Given the description of an element on the screen output the (x, y) to click on. 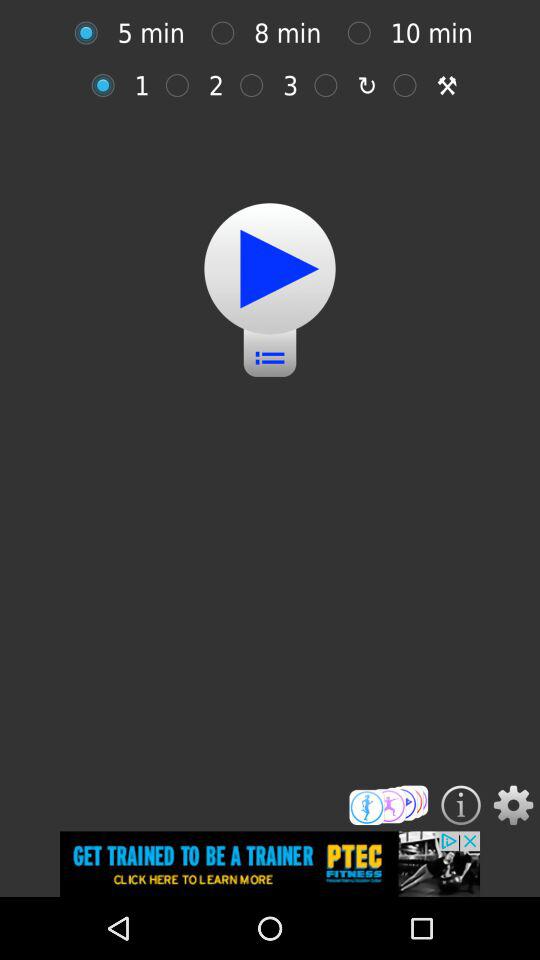
advertisement link (270, 864)
